Given the description of an element on the screen output the (x, y) to click on. 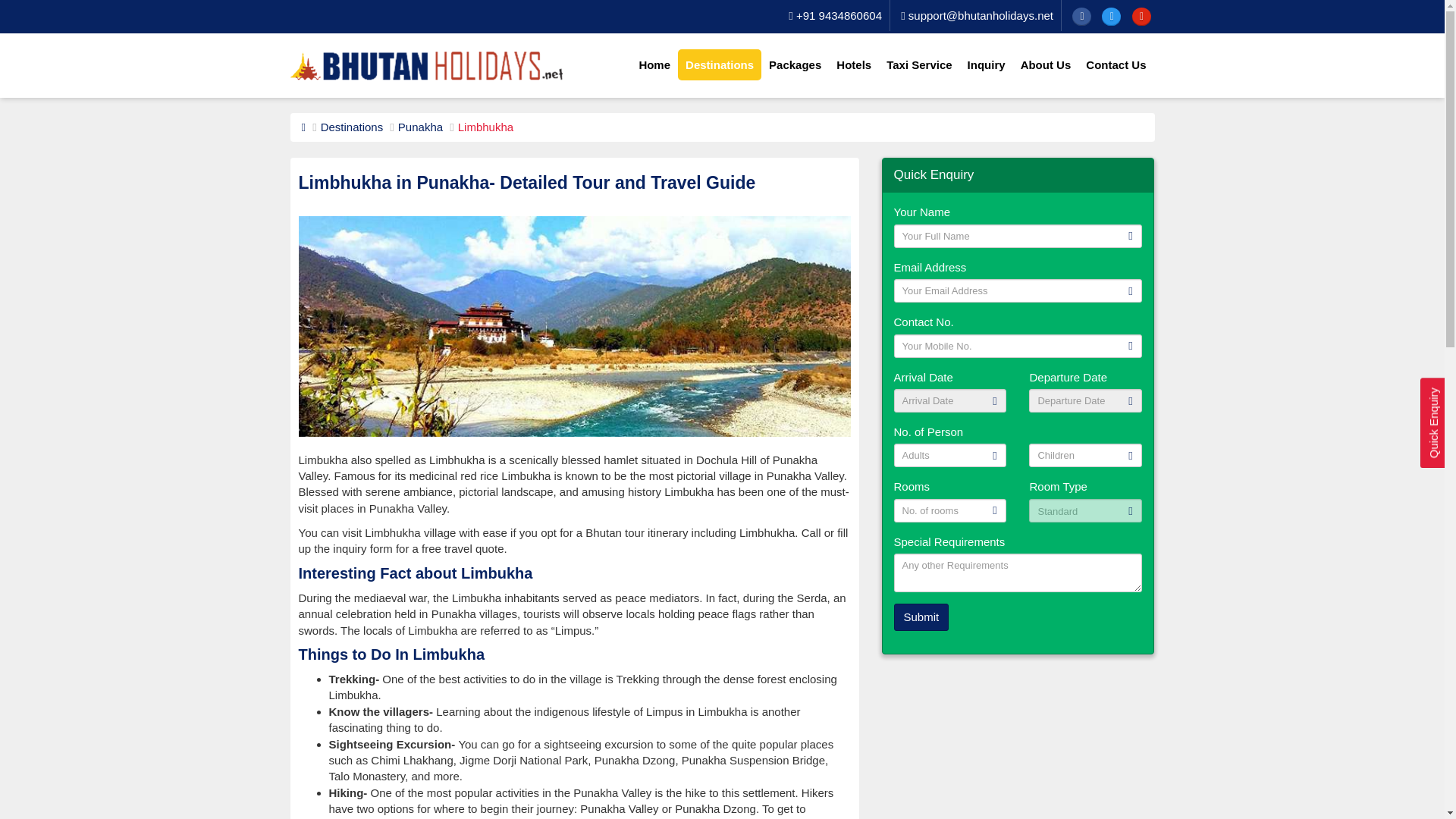
Packages (794, 64)
Contact Us (1115, 64)
Taxi Service (919, 64)
Destinations (719, 64)
Home (654, 64)
Destinations (352, 126)
Submit (921, 616)
Inquiry (986, 64)
Hotels (853, 64)
Punakha (419, 126)
About Us (1045, 64)
